Given the description of an element on the screen output the (x, y) to click on. 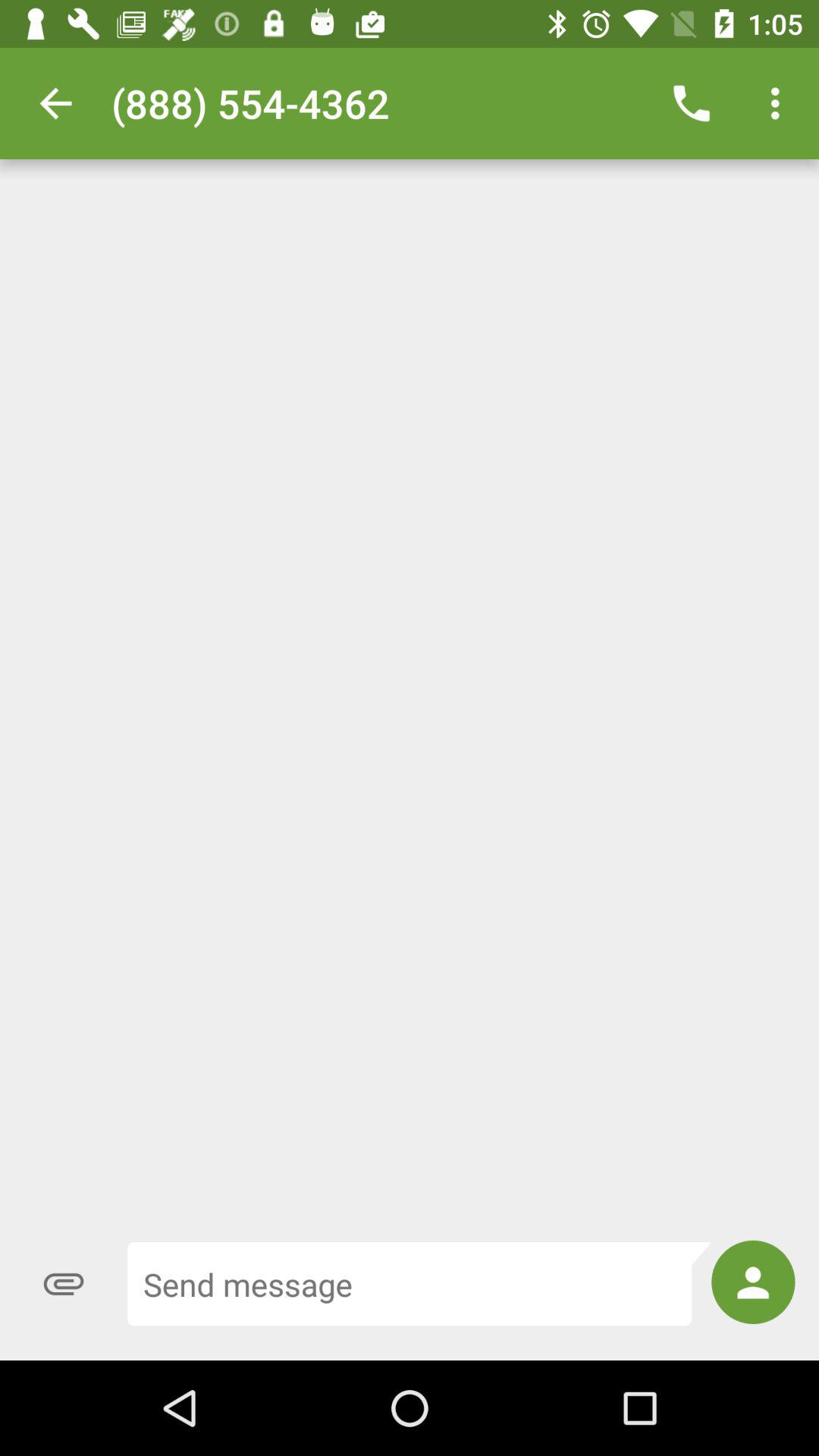
click the item to the left of the (888) 554-4362 icon (55, 103)
